Given the description of an element on the screen output the (x, y) to click on. 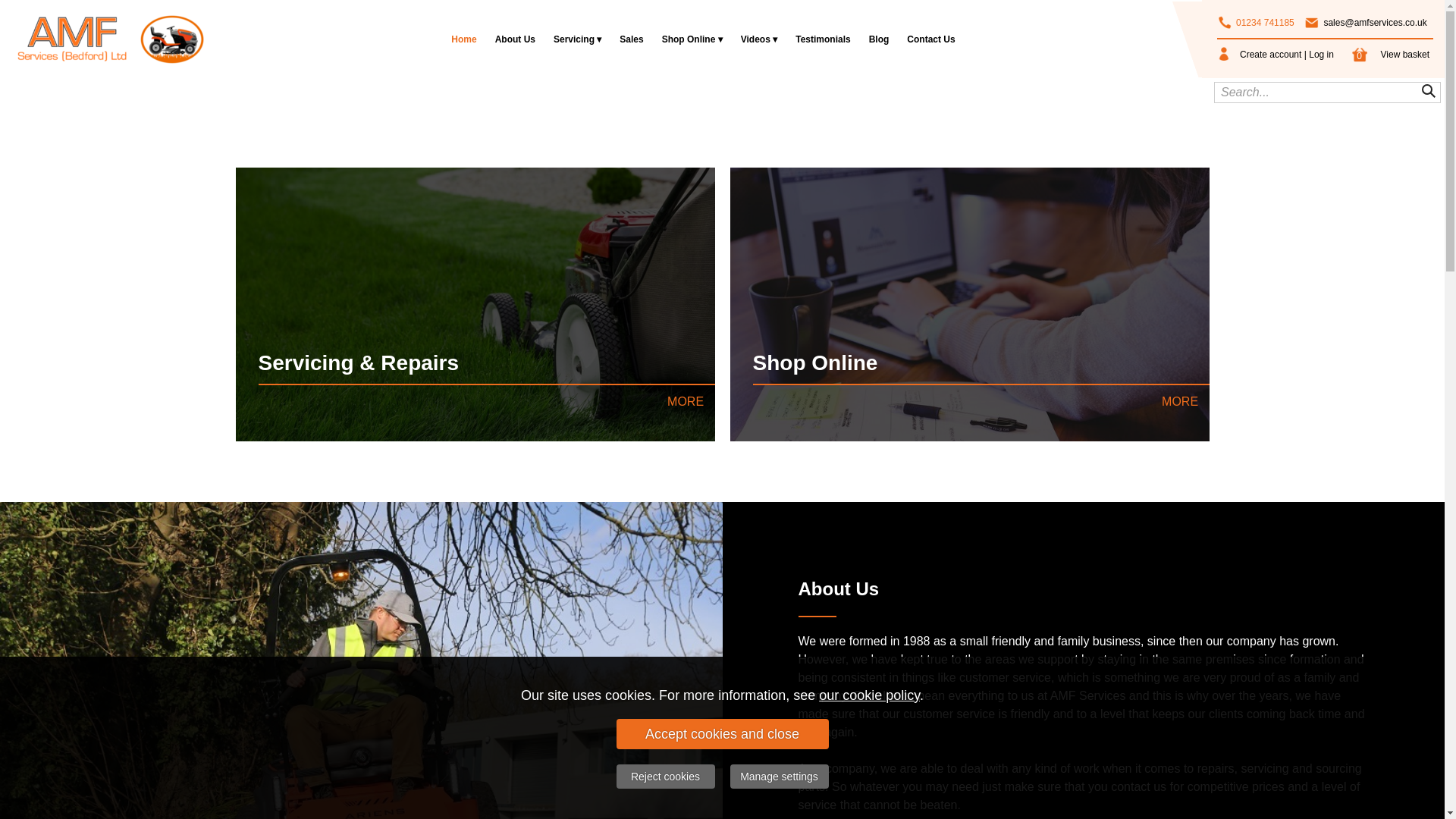
About Us (515, 39)
Shop Online (692, 39)
Sales (631, 39)
Servicing (577, 39)
